Given the description of an element on the screen output the (x, y) to click on. 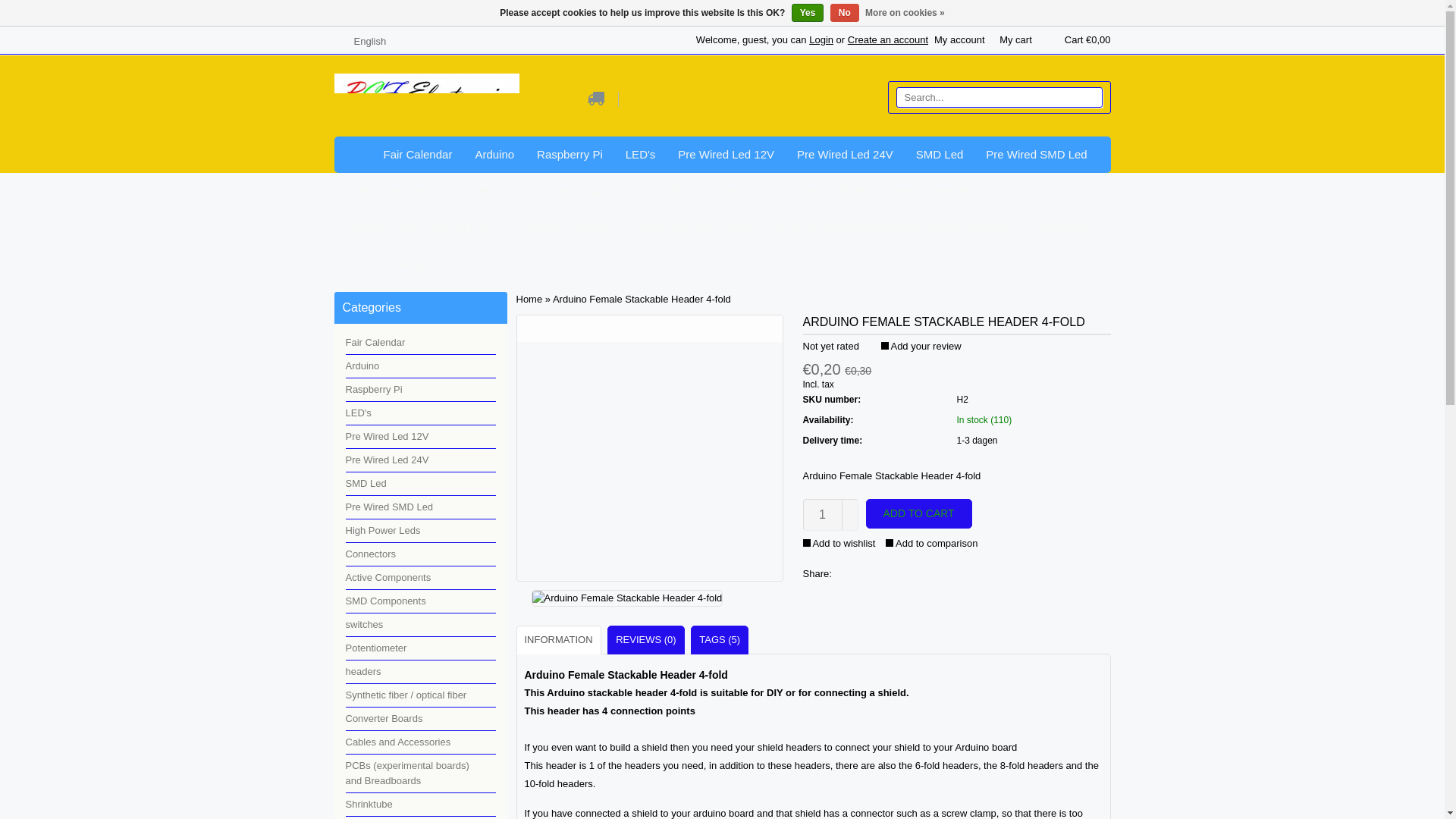
Fair Calendar (417, 154)
Arduino (494, 154)
My cart (1074, 39)
Fair Calendar (417, 154)
My cart (1015, 39)
My cart (1015, 39)
Arduino (494, 154)
Home (352, 154)
Raspberry Pi (569, 154)
Create an account (887, 39)
